Given the description of an element on the screen output the (x, y) to click on. 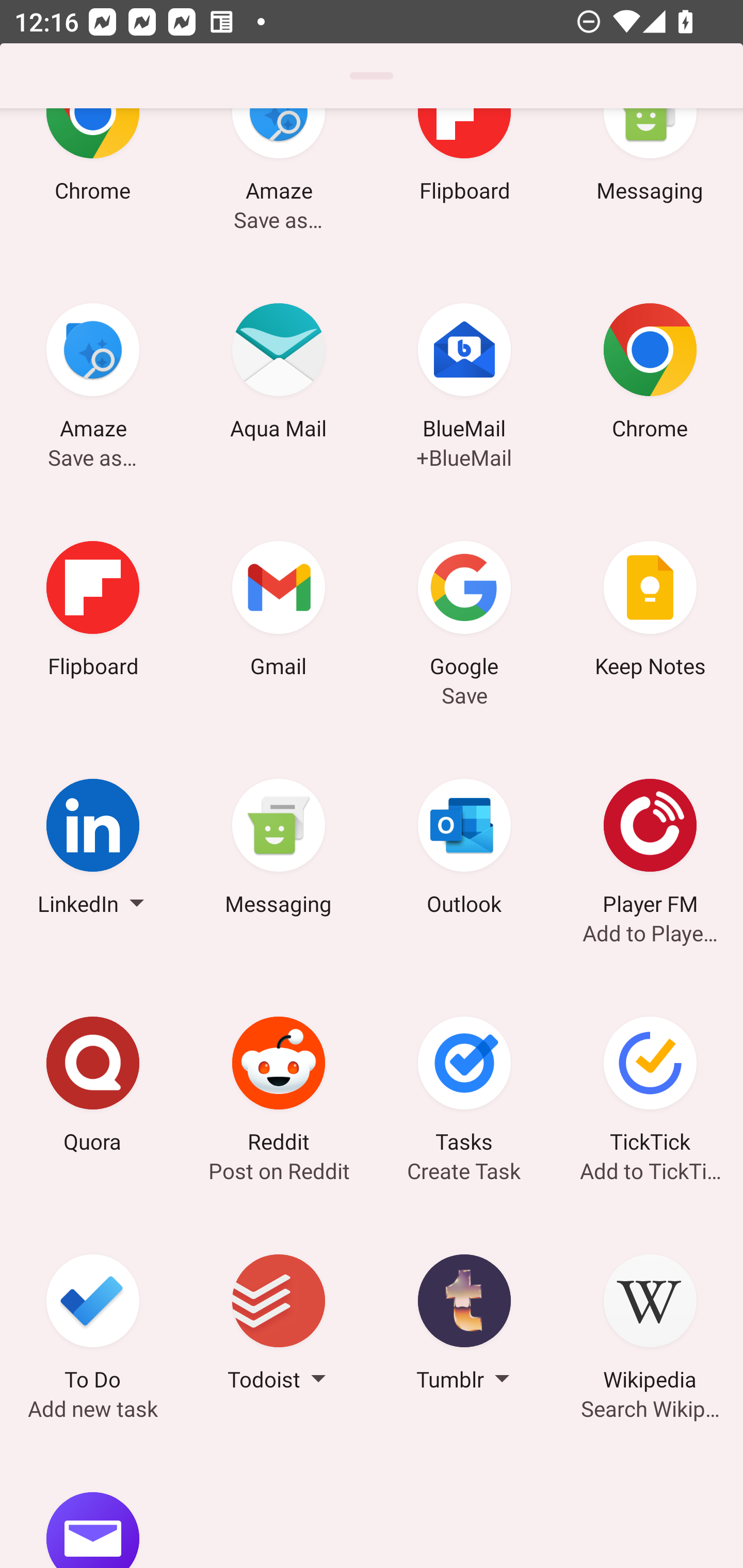
Chrome (92, 181)
Amaze Save as… (278, 181)
Flipboard (464, 181)
Messaging (650, 181)
Amaze Save as… (92, 374)
Aqua Mail (278, 374)
BlueMail +BlueMail (464, 374)
Chrome (650, 374)
Flipboard (92, 611)
Gmail (278, 611)
Google Save (464, 611)
Keep Notes (650, 611)
LinkedIn (92, 849)
Messaging (278, 849)
Outlook (464, 849)
Player FM Add to Player FM (650, 849)
Quora (92, 1088)
Reddit Post on Reddit (278, 1088)
Tasks Create Task (464, 1088)
TickTick Add to TickTick (650, 1088)
To Do Add new task (92, 1325)
Todoist (278, 1325)
Tumblr (464, 1325)
Wikipedia Search Wikipedia (650, 1325)
